Given the description of an element on the screen output the (x, y) to click on. 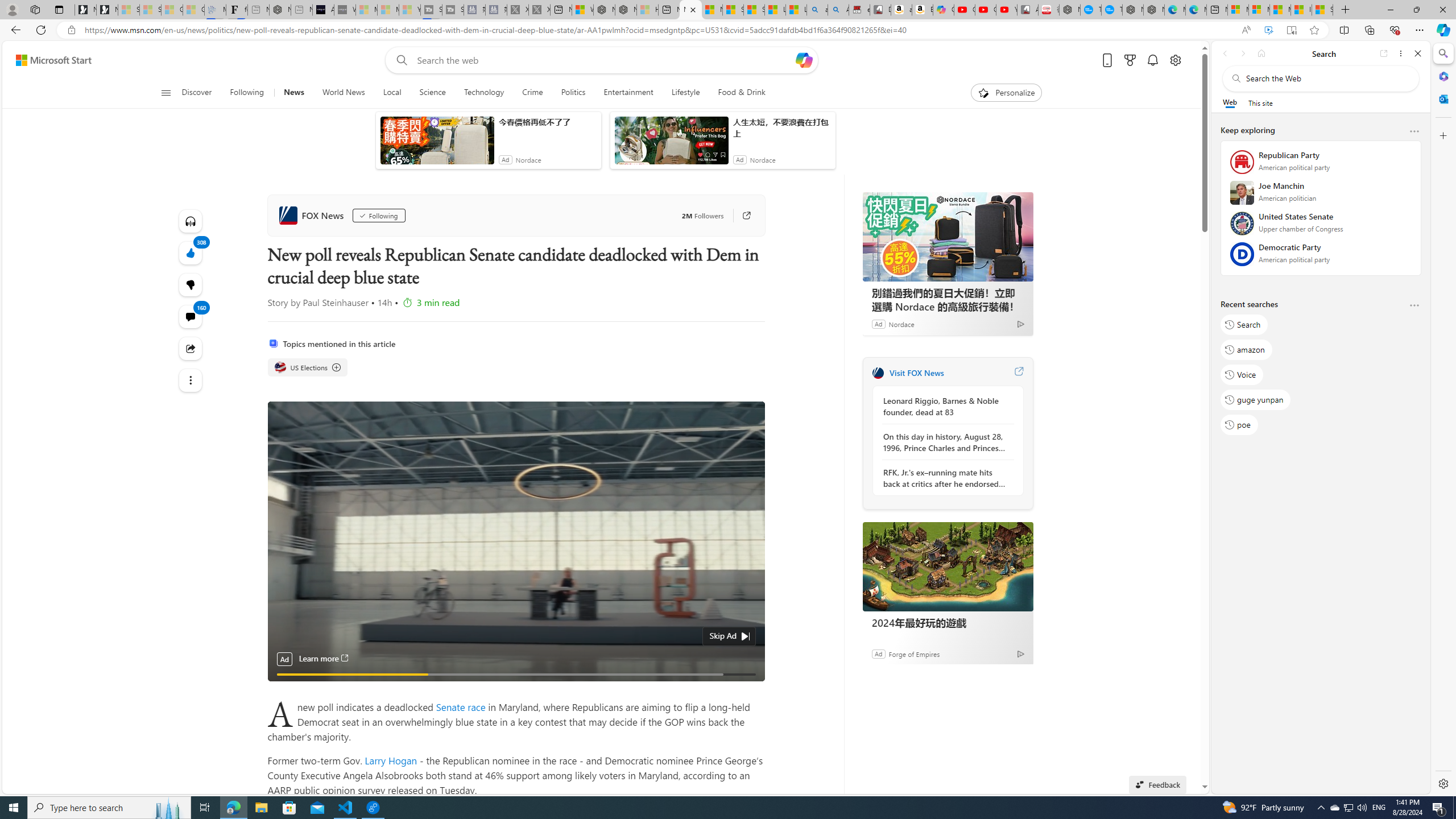
Enter your search term (603, 59)
poe (1238, 424)
guge yunpan (1255, 399)
World News (343, 92)
Open settings (1175, 60)
US Elections (307, 367)
Technology (483, 92)
Enter Immersive Reader (F9) (1291, 29)
News (293, 92)
I Gained 20 Pounds of Muscle in 30 Days! | Watch (1300, 9)
Enhance video (1268, 29)
Copilot (943, 9)
Home (1261, 53)
